Given the description of an element on the screen output the (x, y) to click on. 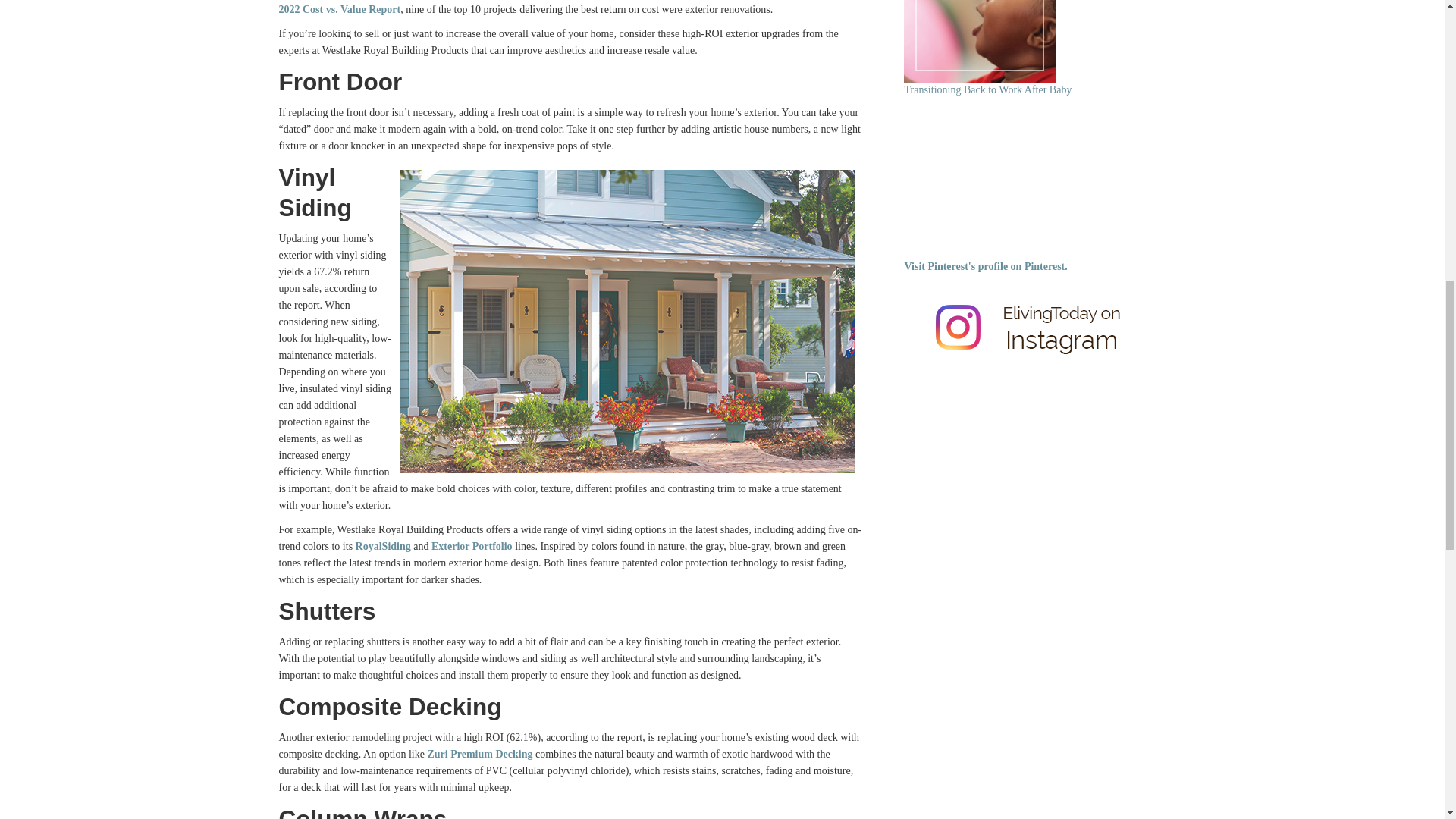
Exterior Portfolio (471, 546)
Zuri Premium Decking (479, 754)
Royal (368, 546)
Siding (395, 546)
Continue reading (979, 40)
